Given the description of an element on the screen output the (x, y) to click on. 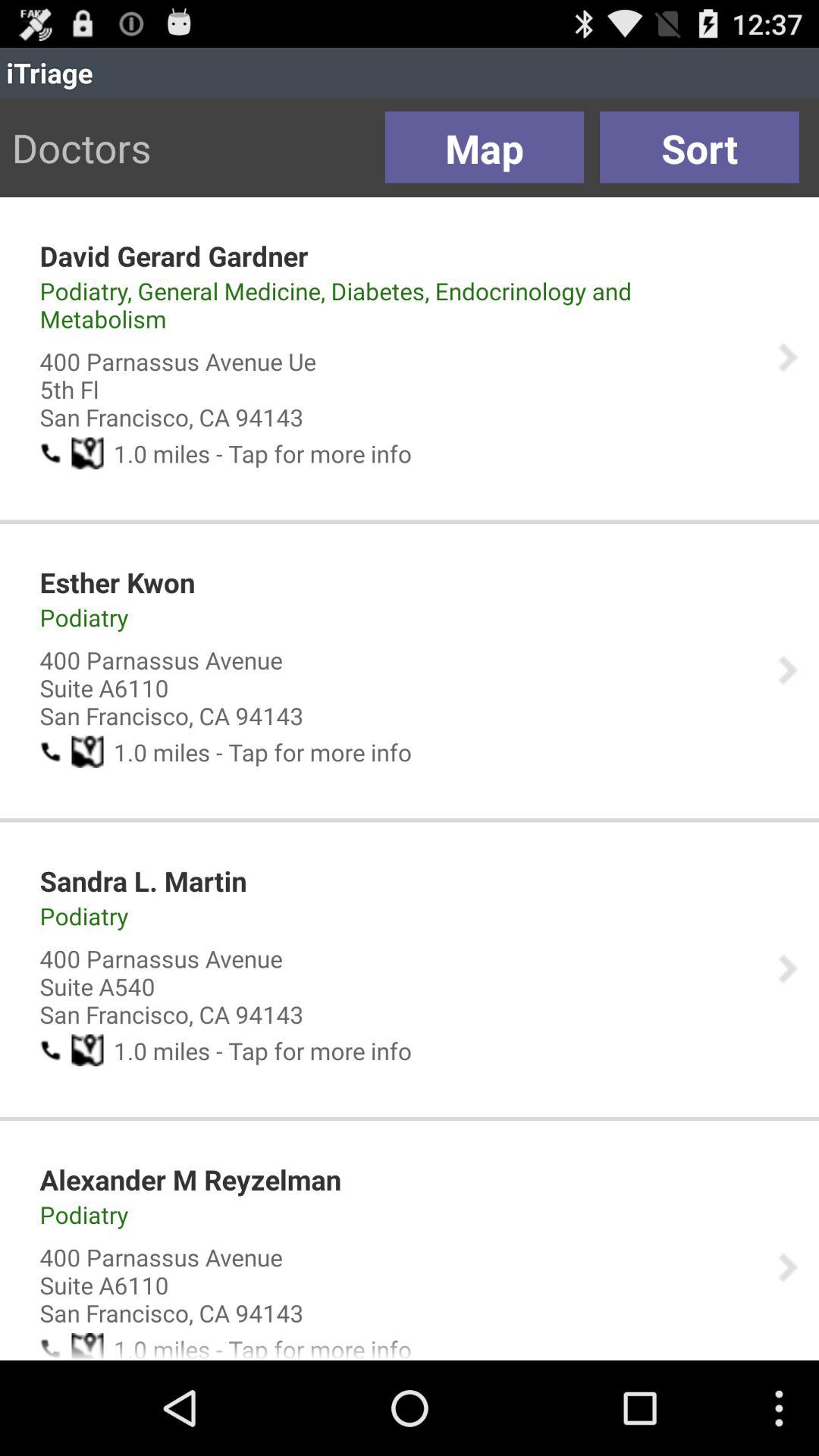
tap the app above podiatry item (190, 1179)
